Given the description of an element on the screen output the (x, y) to click on. 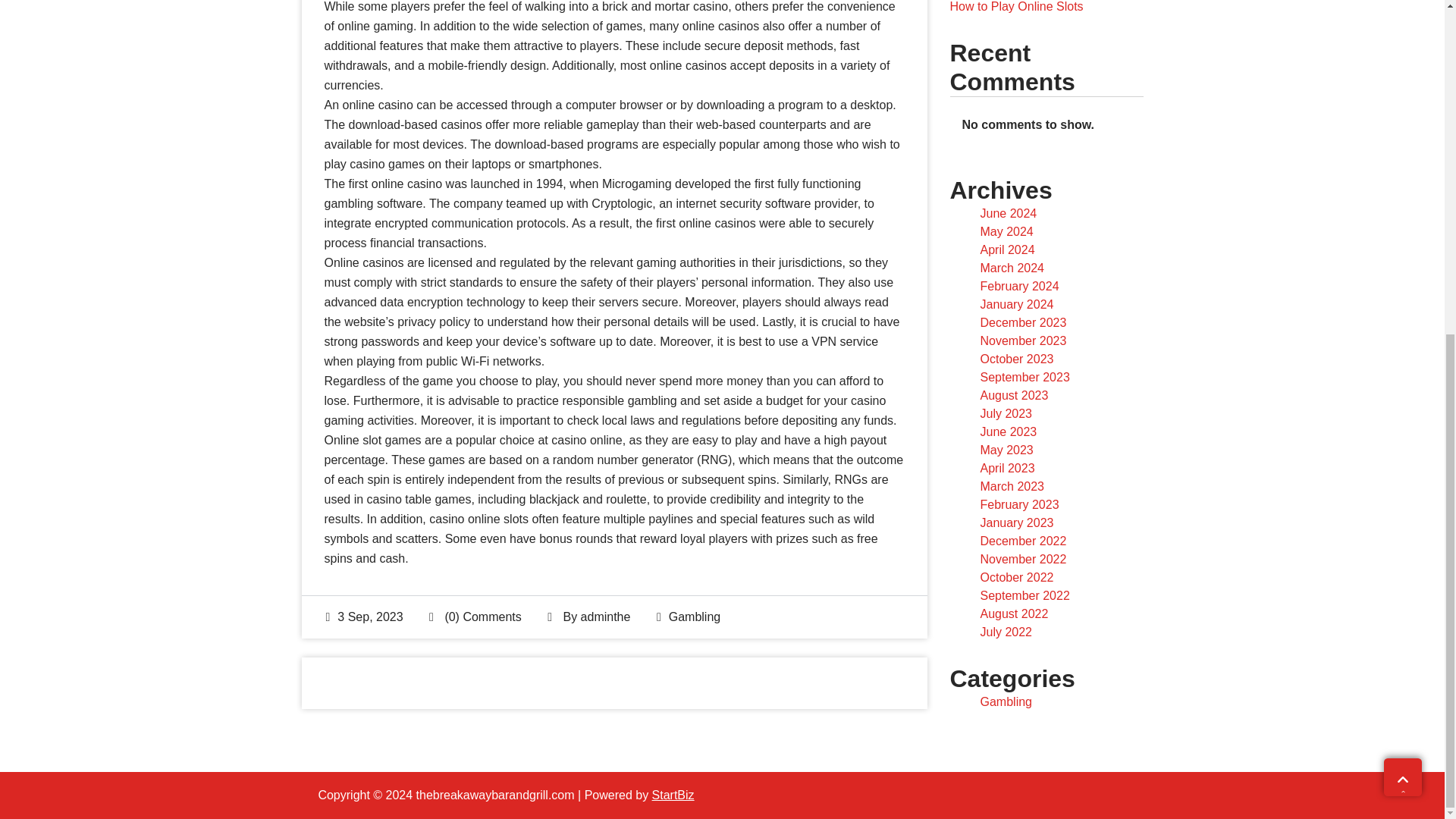
May 2023 (1005, 449)
April 2024 (1006, 249)
January 2023 (1015, 522)
December 2023 (1022, 322)
Gambling (694, 616)
March 2023 (1011, 486)
November 2023 (1022, 340)
August 2023 (1013, 395)
May 2024 (1005, 231)
April 2023 (1006, 468)
September 2023 (1023, 377)
October 2023 (1015, 358)
January 2024 (1015, 304)
adminthe (605, 616)
February 2024 (1018, 286)
